Given the description of an element on the screen output the (x, y) to click on. 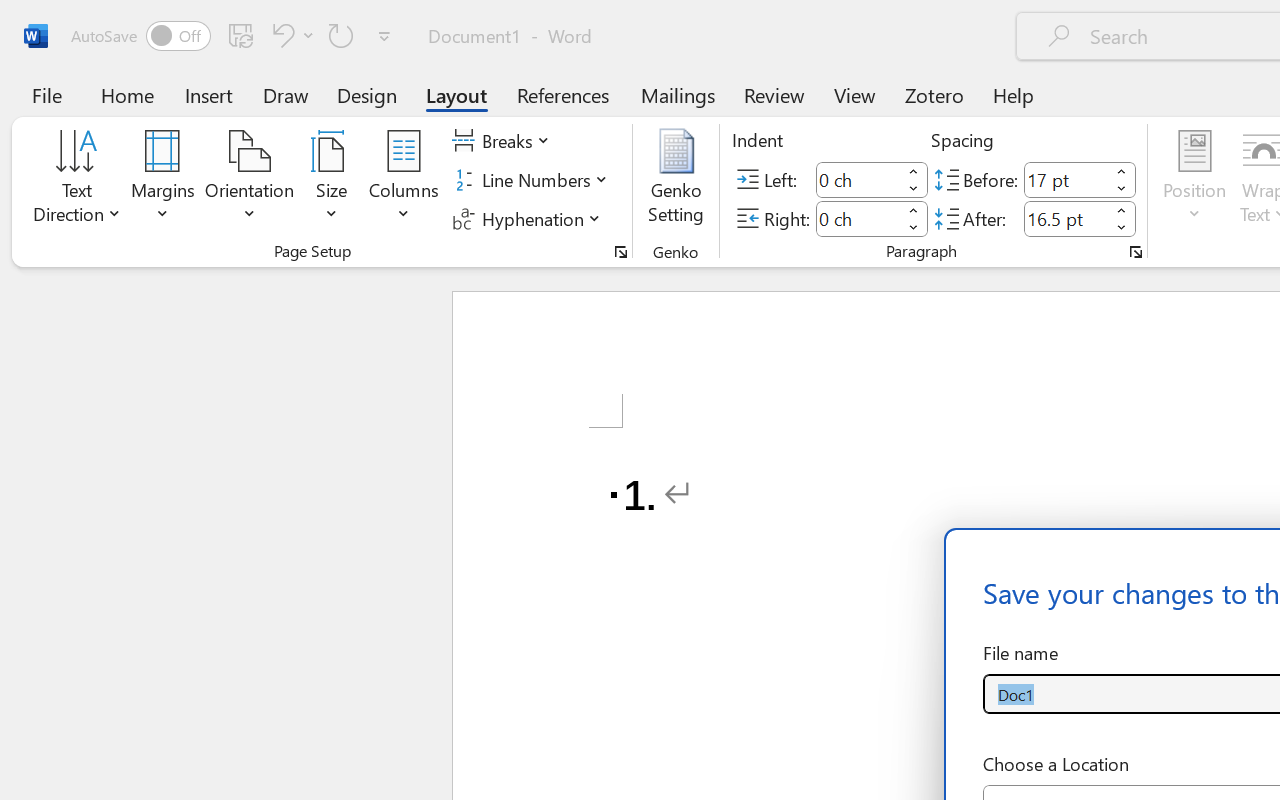
Breaks (504, 141)
Undo Number Default (290, 35)
Spacing Before (1066, 179)
Indent Right (858, 218)
Columns (404, 179)
Text Direction (77, 179)
Orientation (250, 179)
Page Setup... (621, 252)
Position (1194, 179)
Undo Number Default (280, 35)
